Given the description of an element on the screen output the (x, y) to click on. 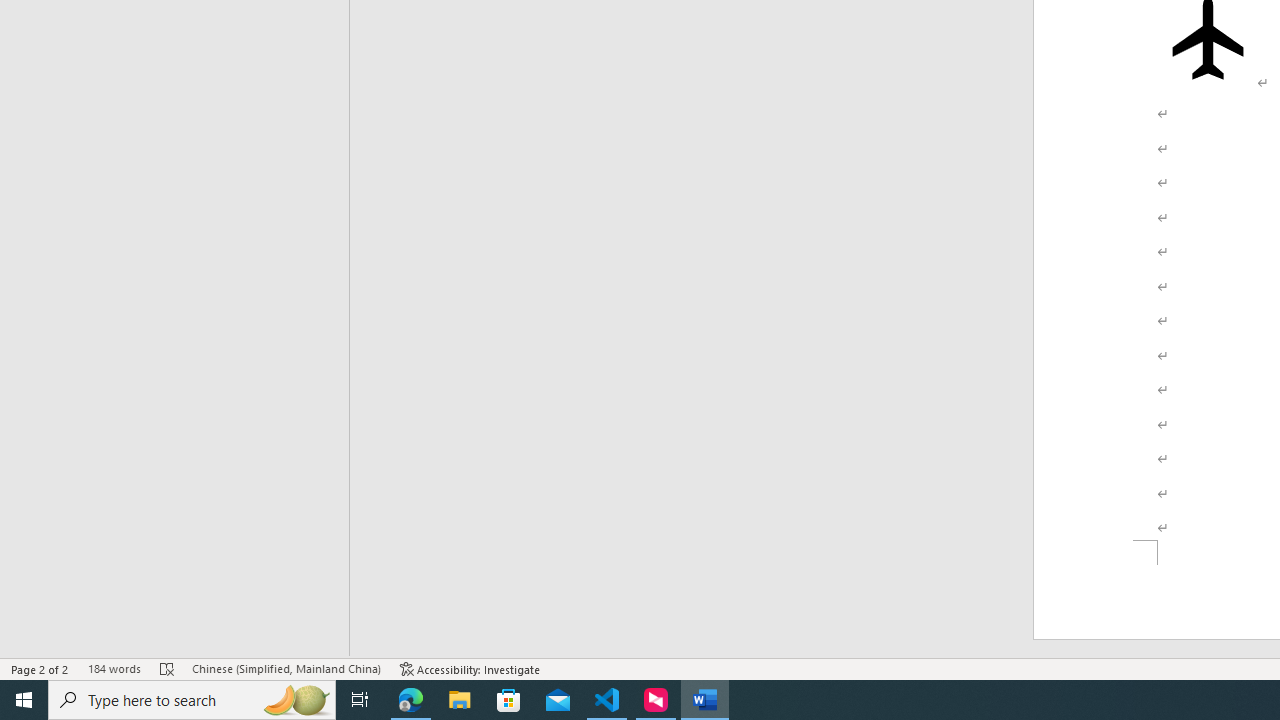
Word Count 184 words (113, 668)
Page Number Page 2 of 2 (39, 668)
